Given the description of an element on the screen output the (x, y) to click on. 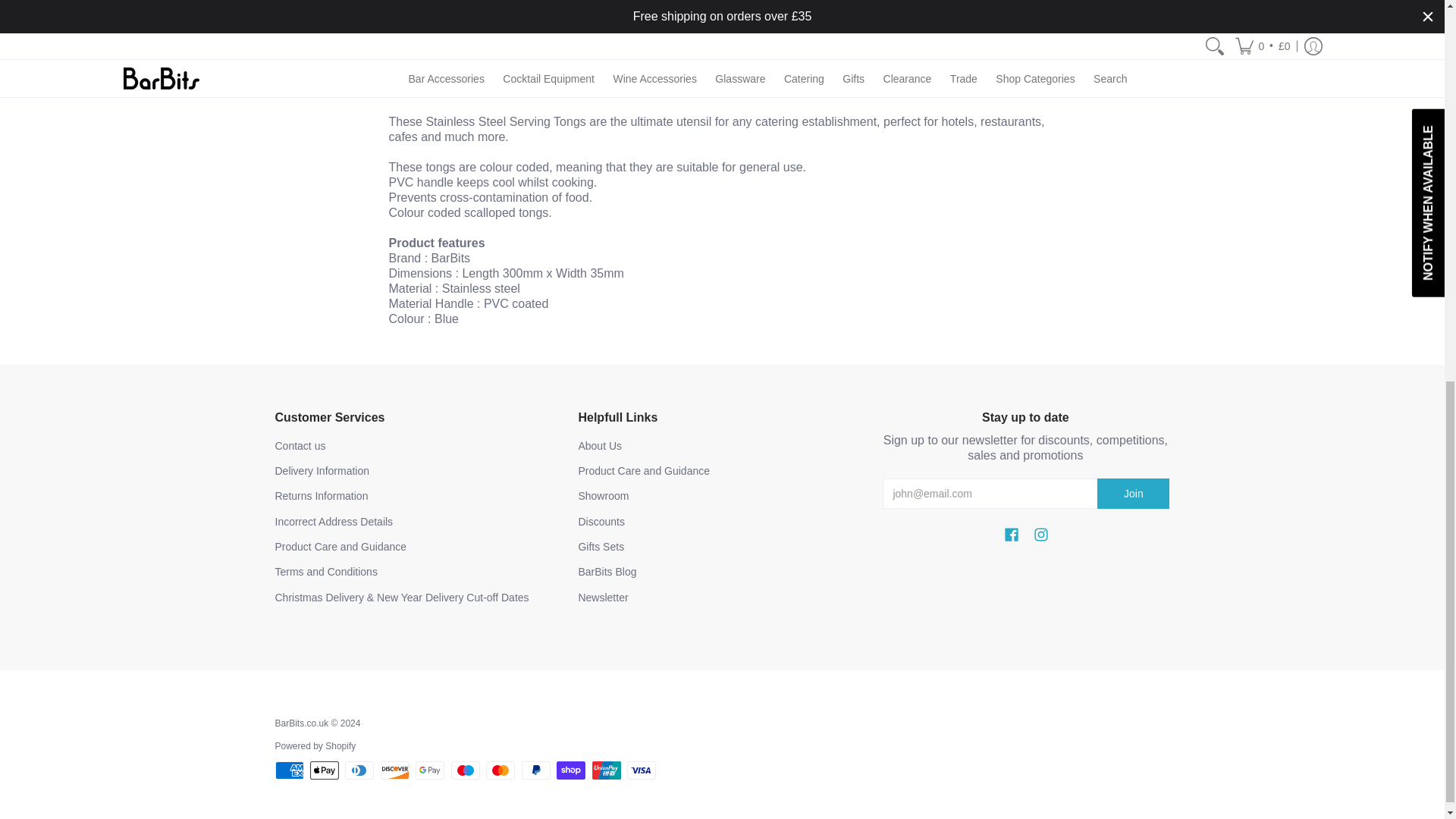
Union Pay (606, 770)
Visa (641, 770)
Google Pay (429, 770)
Discover (394, 770)
American Express (288, 770)
Diners Club (359, 770)
Mastercard (500, 770)
Shop Pay (570, 770)
Apple Pay (324, 770)
PayPal (535, 770)
Maestro (465, 770)
